Given the description of an element on the screen output the (x, y) to click on. 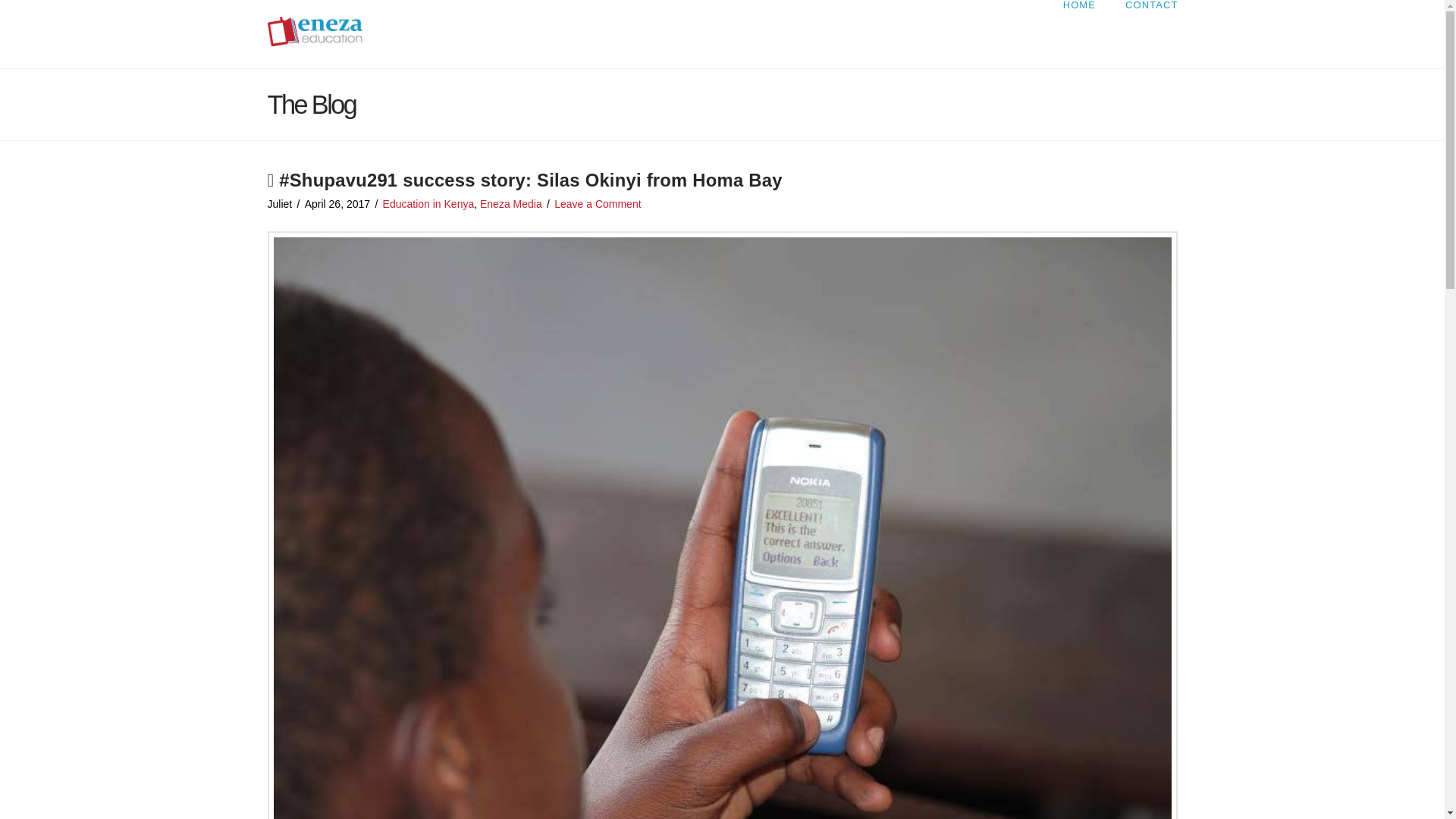
Leave a Comment (597, 203)
Education in Kenya (428, 203)
CONTACT (1143, 33)
Eneza Media (510, 203)
HOME (1078, 33)
